Given the description of an element on the screen output the (x, y) to click on. 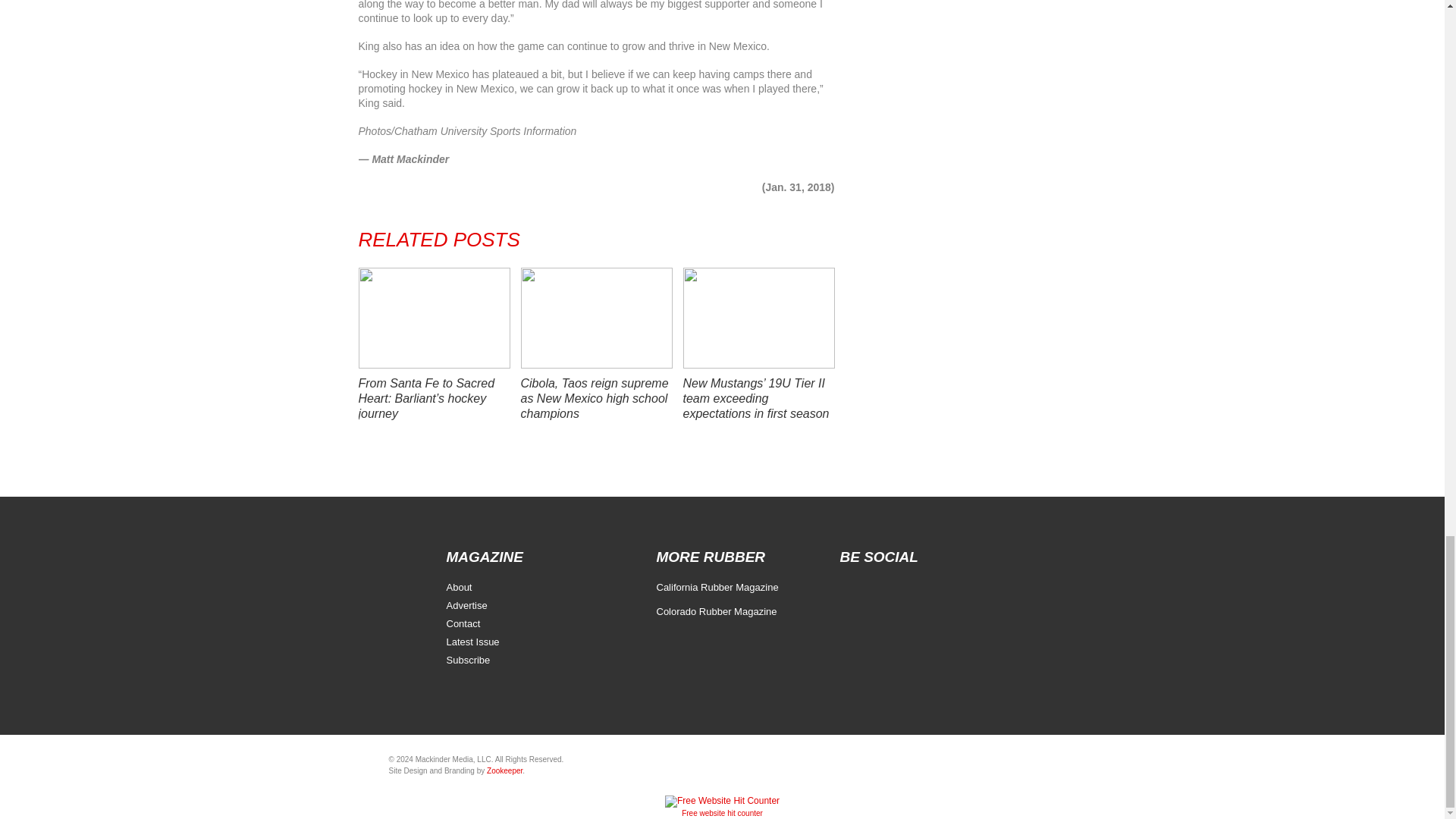
Zookeeper (504, 770)
Free Website Hit Counter (721, 813)
